Given the description of an element on the screen output the (x, y) to click on. 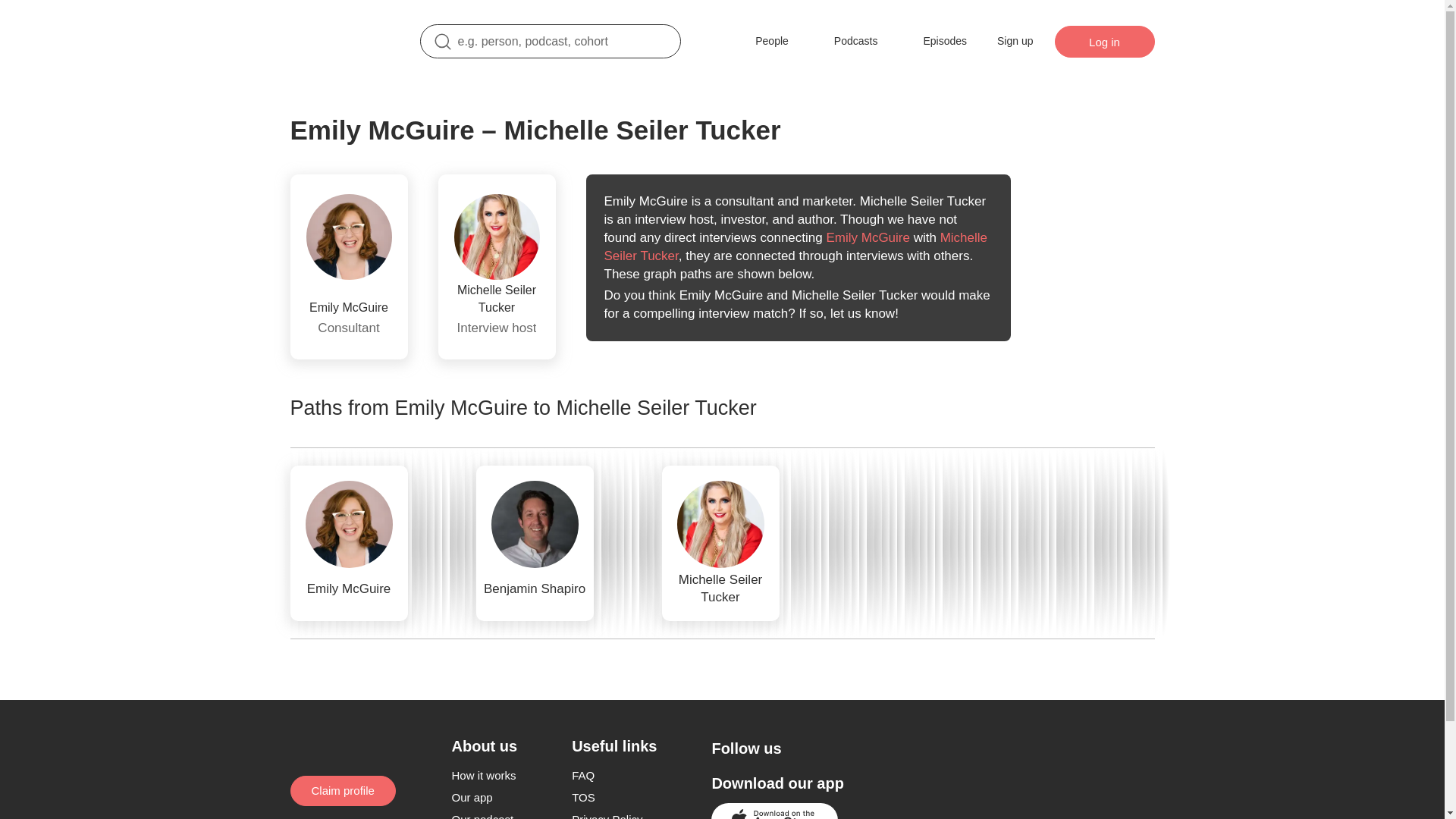
People (761, 40)
Sign up (1014, 41)
Episodes (933, 40)
Podcasts (844, 40)
let us know (862, 313)
Log in (1104, 41)
